Given the description of an element on the screen output the (x, y) to click on. 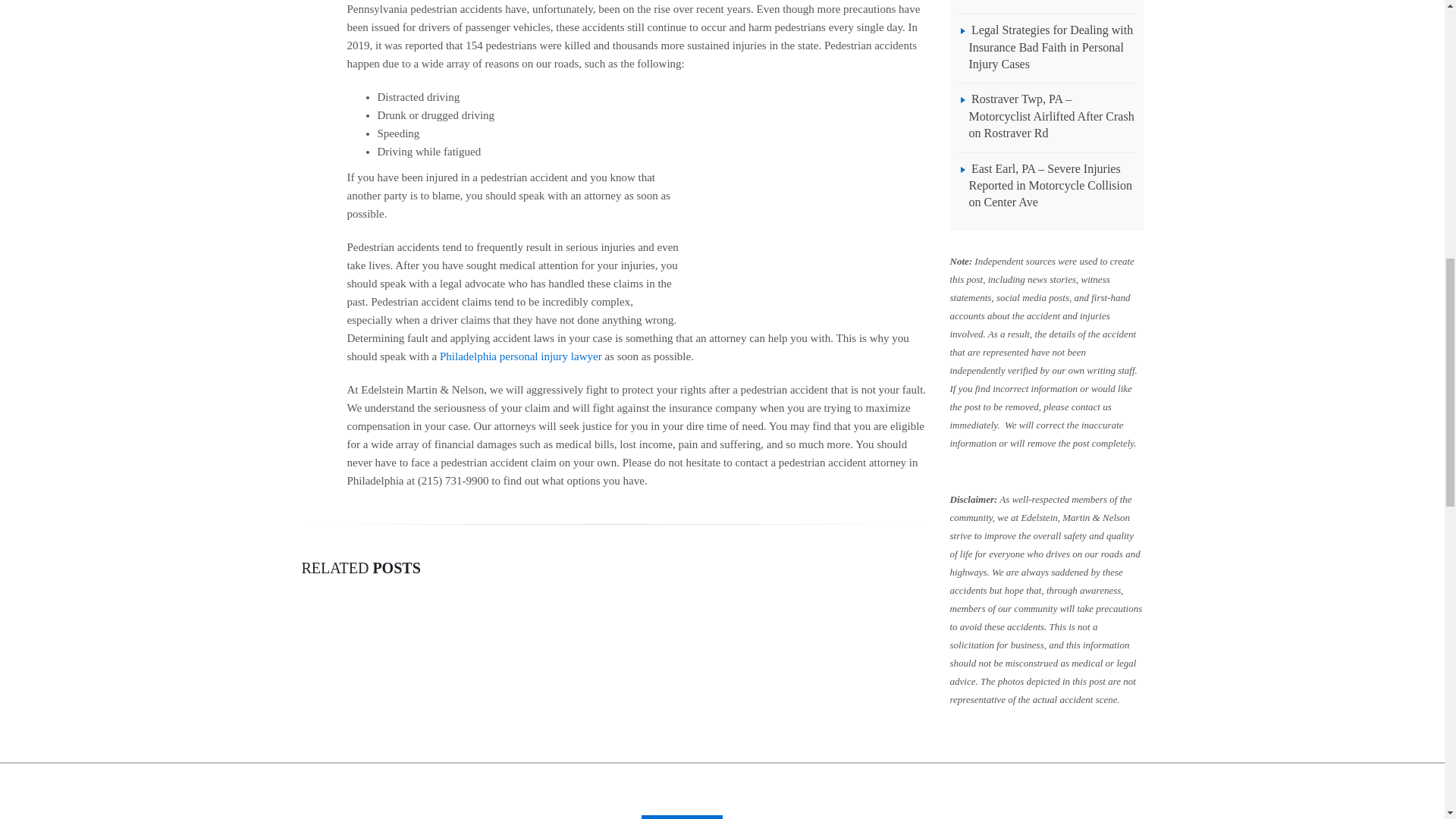
This is the current location (1083, 812)
